Given the description of an element on the screen output the (x, y) to click on. 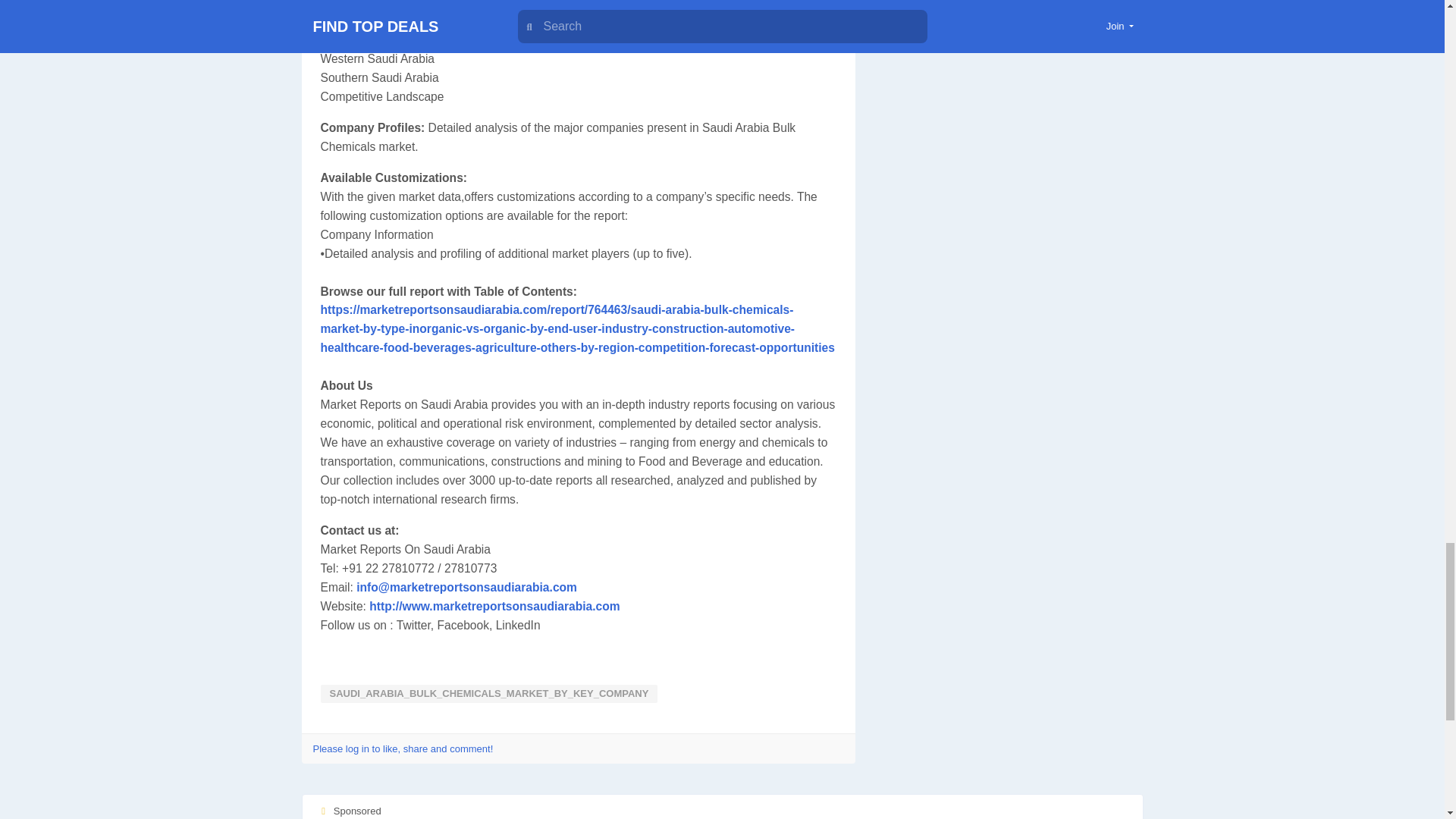
Please log in to like, share and comment! (403, 748)
